Given the description of an element on the screen output the (x, y) to click on. 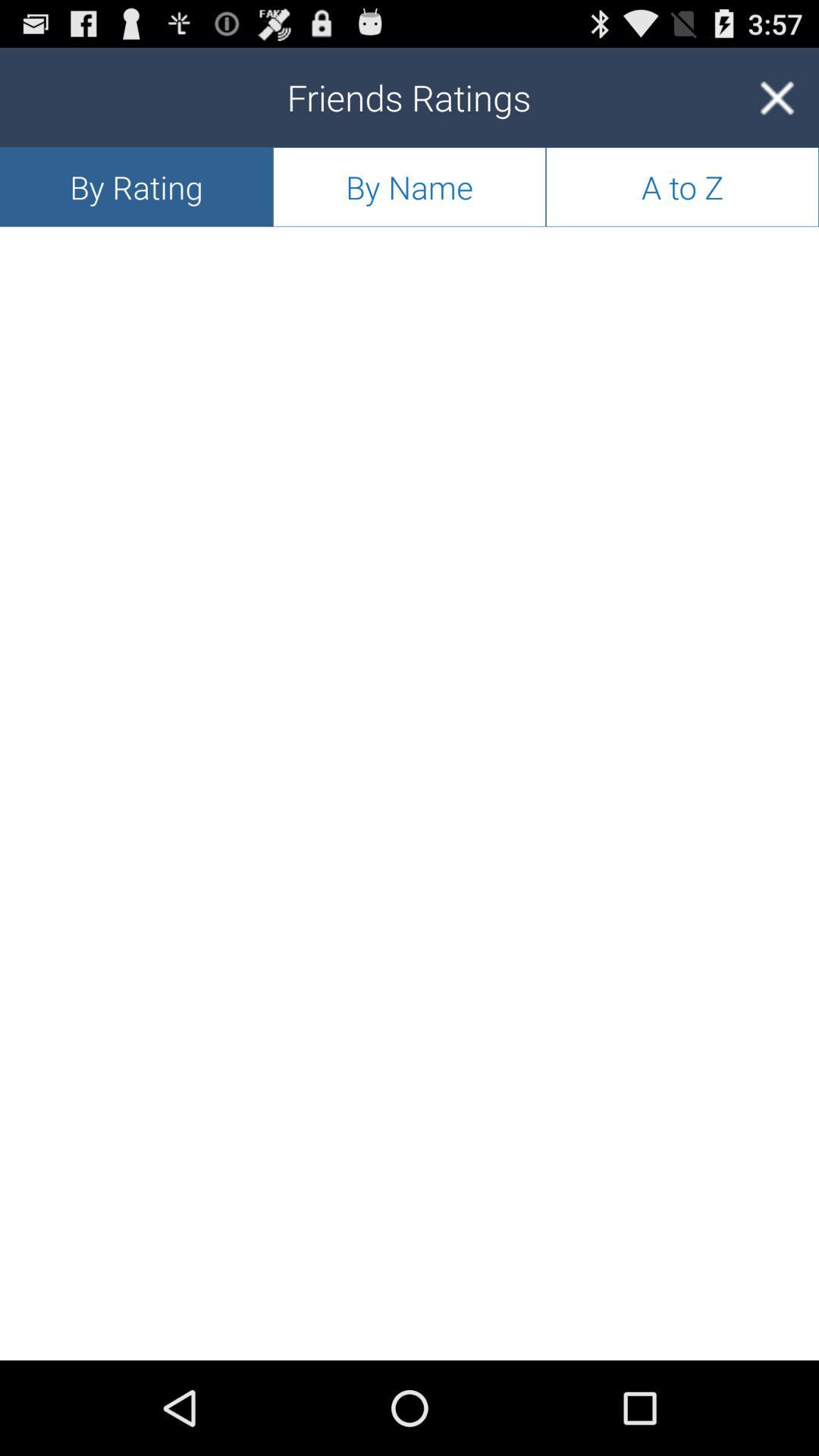
open the app next to the by name icon (682, 186)
